Given the description of an element on the screen output the (x, y) to click on. 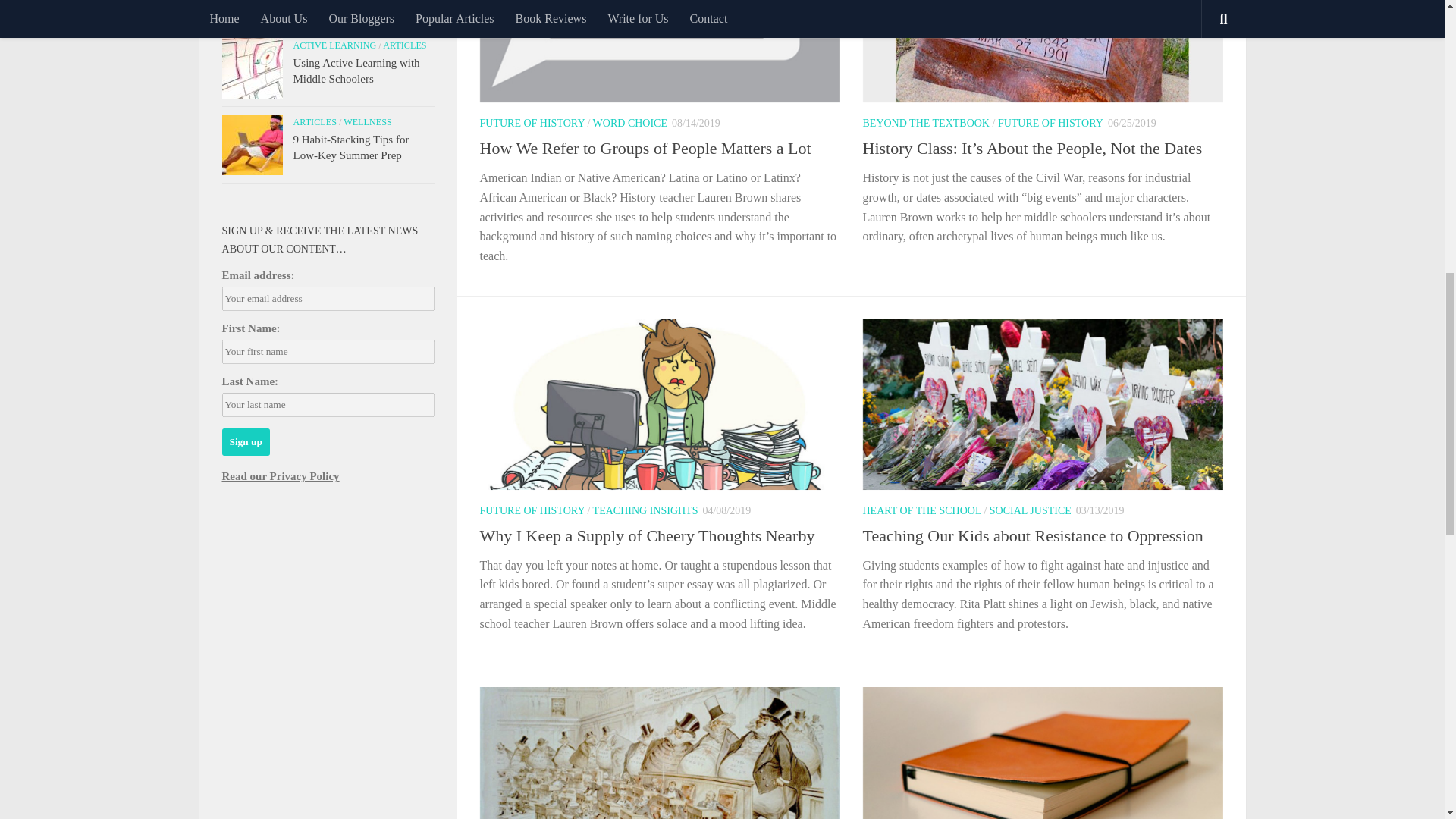
Sign up (245, 441)
BEYOND THE TEXTBOOK (926, 122)
How We Refer to Groups of People Matters a Lot (644, 148)
FUTURE OF HISTORY (1050, 122)
WORD CHOICE (629, 122)
FUTURE OF HISTORY (531, 122)
